Given the description of an element on the screen output the (x, y) to click on. 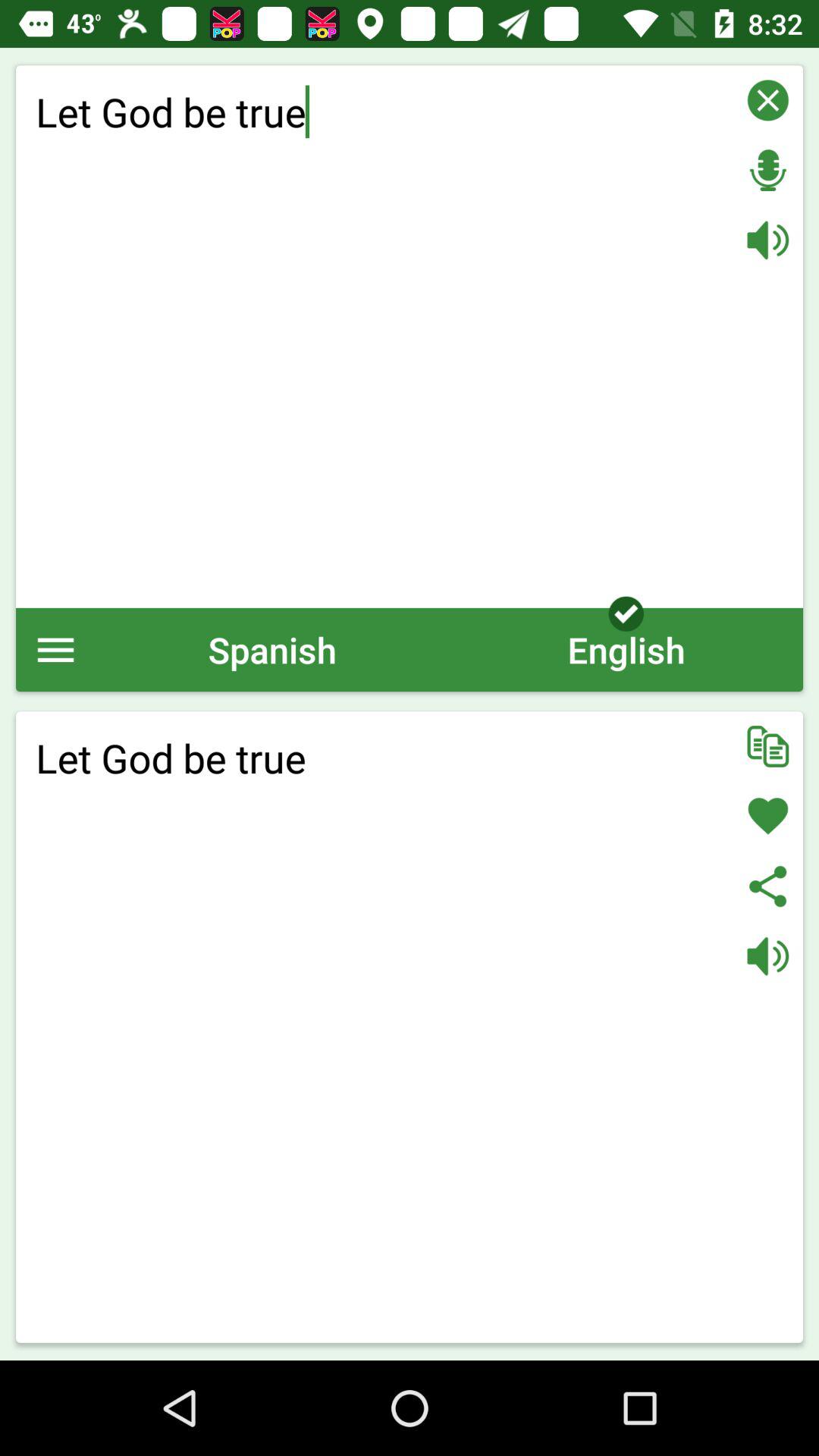
launch icon above let god be icon (272, 649)
